Given the description of an element on the screen output the (x, y) to click on. 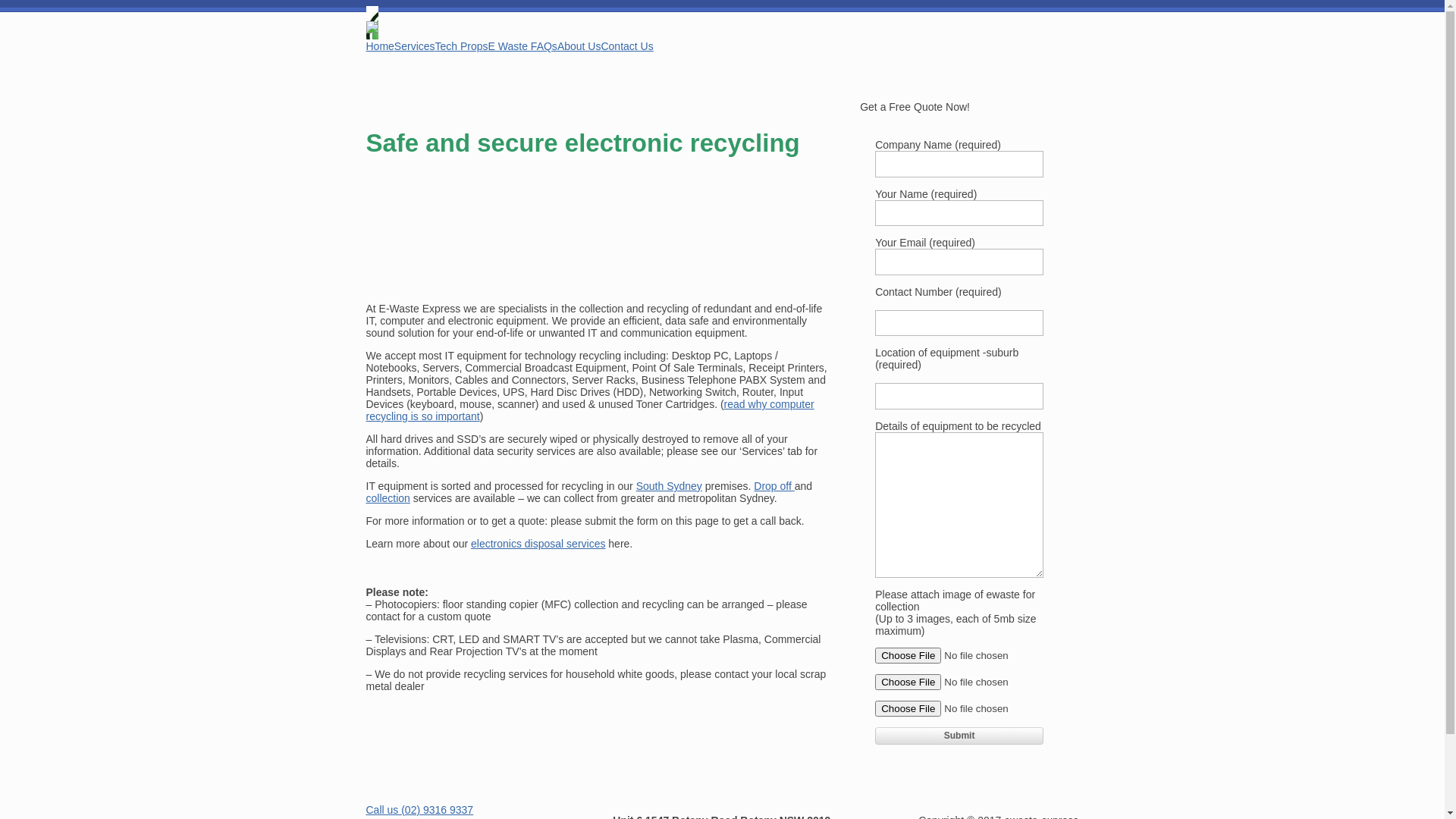
Home Element type: text (379, 46)
read why computer recycling is so important Element type: text (589, 410)
Tech Props Element type: text (461, 46)
collection Element type: text (387, 498)
South Sydney Element type: text (669, 486)
Services Element type: text (414, 46)
electronics disposal services Element type: text (537, 543)
E Waste FAQs Element type: text (522, 46)
Call us (02) 9316 9337 Element type: text (419, 809)
Contact Us Element type: text (626, 46)
Submit Element type: text (959, 735)
About Us Element type: text (579, 46)
Drop off Element type: text (773, 486)
